Given the description of an element on the screen output the (x, y) to click on. 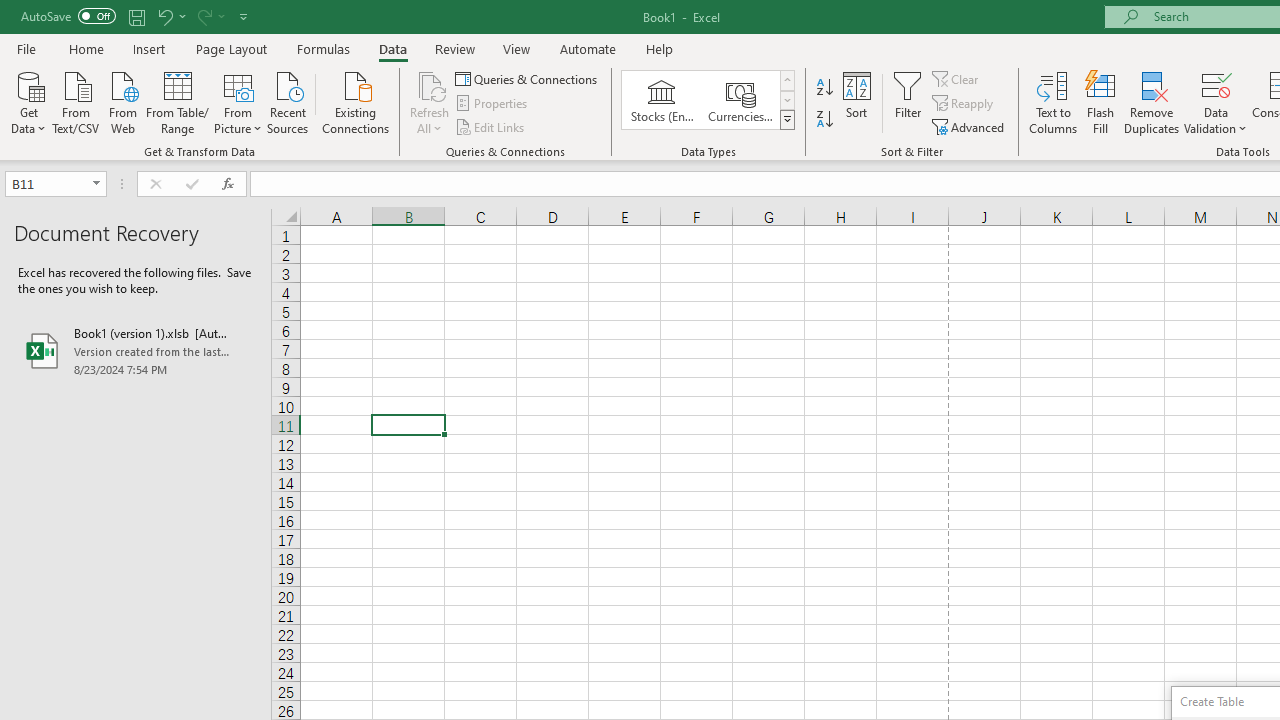
Get Data (28, 101)
Edit Links (491, 126)
Flash Fill (1101, 102)
Currencies (English) (740, 100)
Sort A to Z (824, 87)
Queries & Connections (527, 78)
Remove Duplicates (1151, 102)
